Given the description of an element on the screen output the (x, y) to click on. 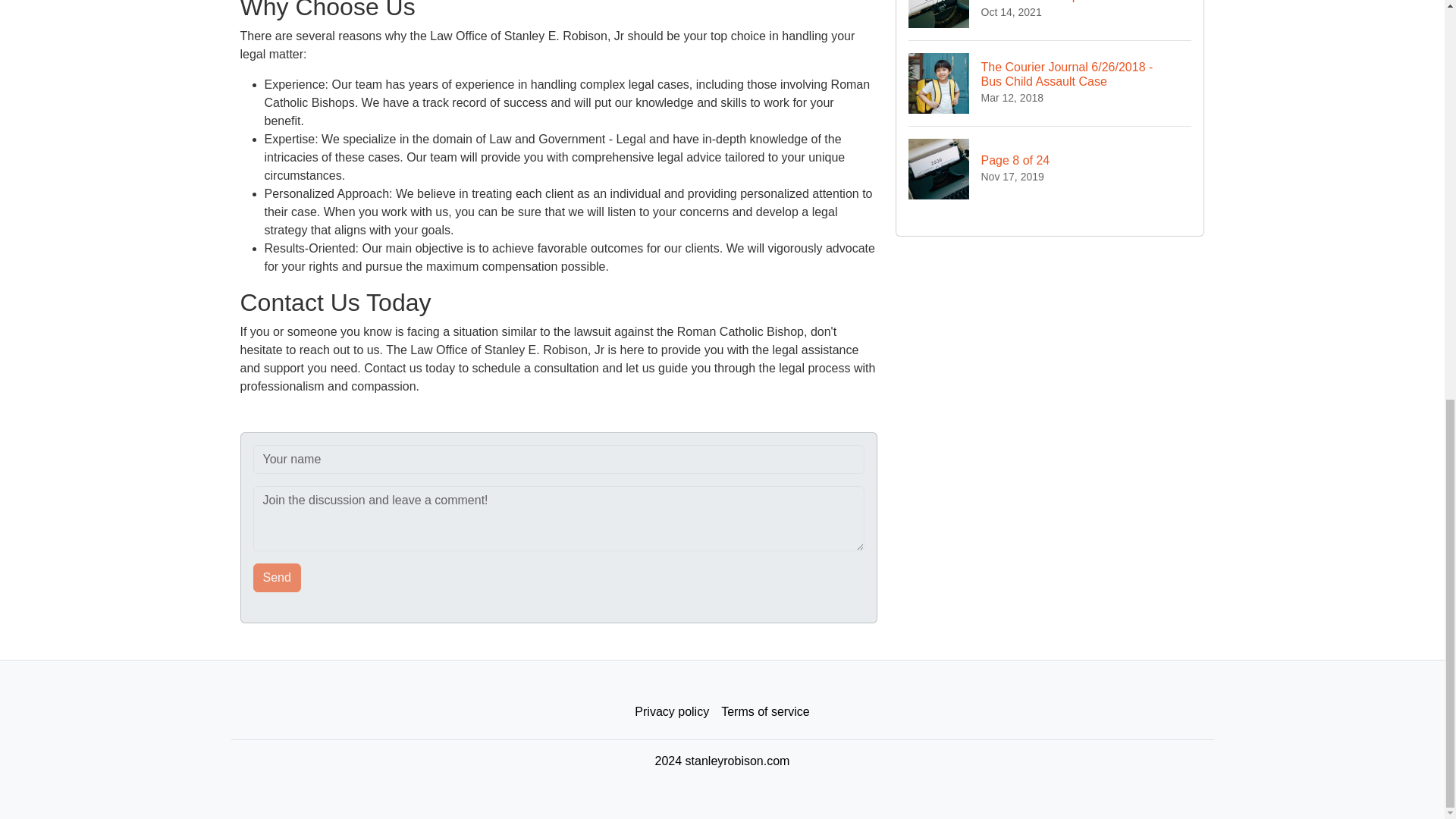
Send (1050, 168)
Send (277, 577)
Terms of service (277, 577)
Privacy policy (764, 711)
